Given the description of an element on the screen output the (x, y) to click on. 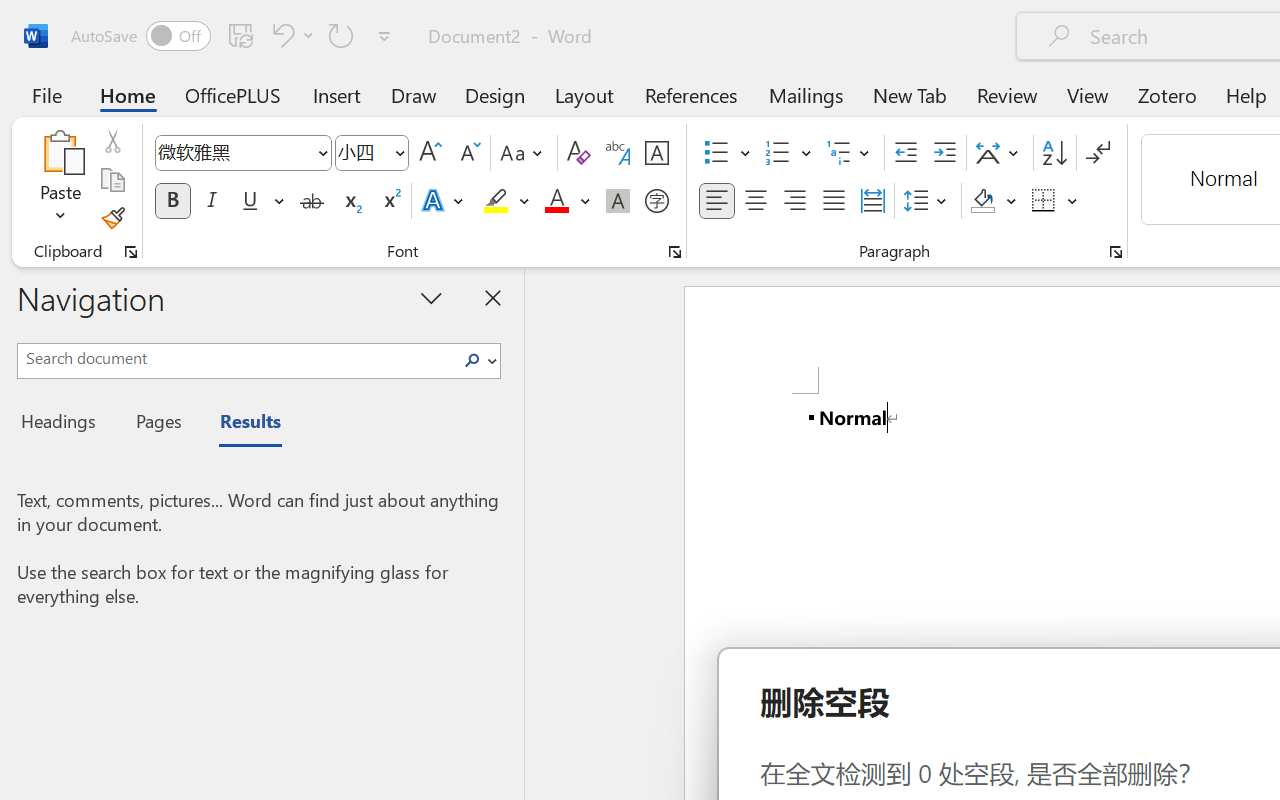
More Options (1073, 201)
Asian Layout (1000, 153)
Subscript (350, 201)
Paste (60, 179)
Shading (993, 201)
Font Size (362, 152)
Customize Quick Access Toolbar (384, 35)
Undo <ApplyStyleToDoc>b__0 (290, 35)
Sort... (1054, 153)
Align Left (716, 201)
